Given the description of an element on the screen output the (x, y) to click on. 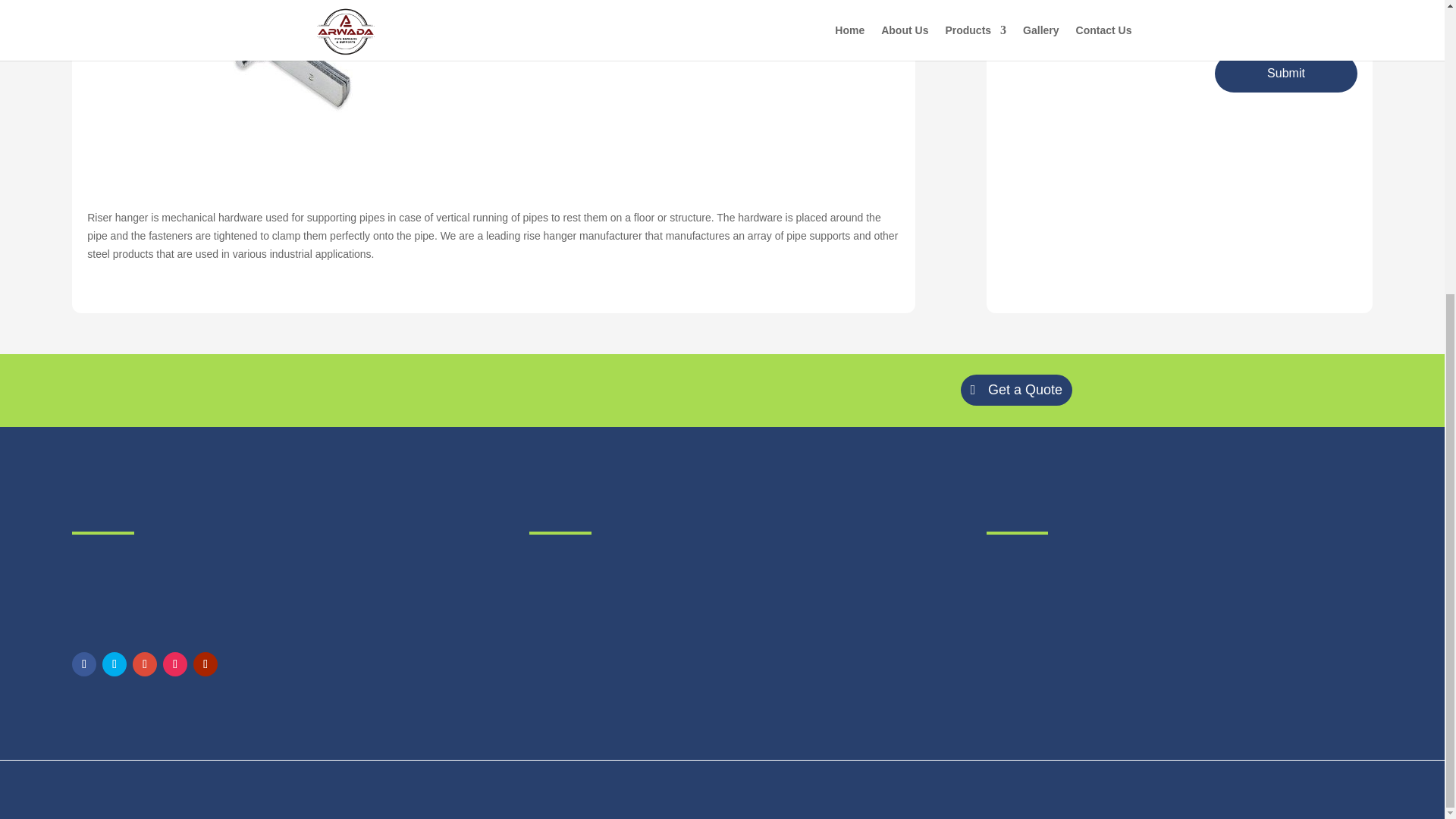
Submit (1285, 73)
Follow on Facebook (83, 663)
Follow on Twitter (113, 663)
Follow on Youtube (204, 663)
Follow on Instagram (175, 663)
Submit (1285, 73)
Get a Quote (1015, 389)
